Given the description of an element on the screen output the (x, y) to click on. 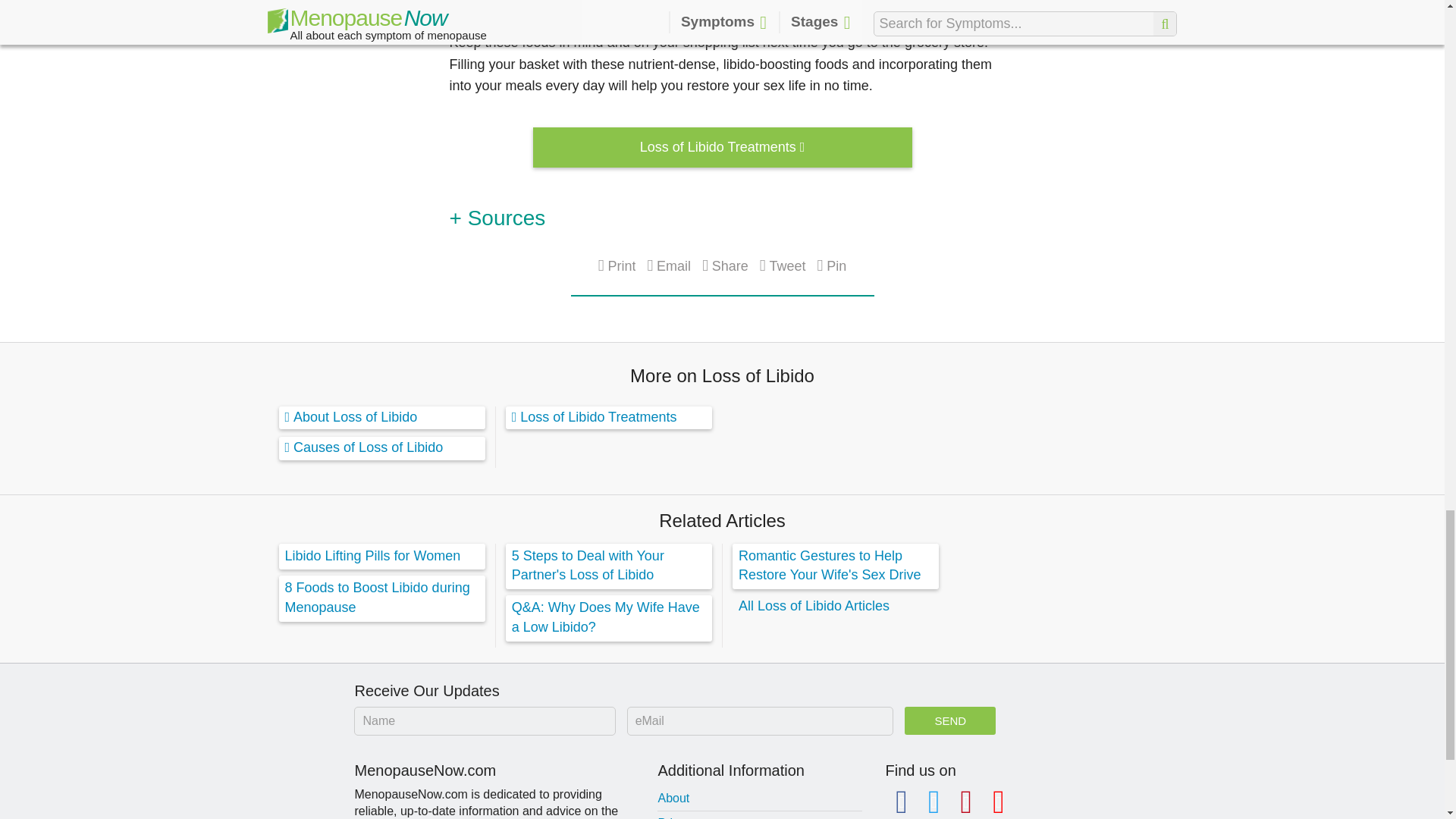
Email this page (668, 265)
Print this page (617, 265)
Share on Twitter (783, 265)
Share on Facebook (724, 265)
Share on Pinterest (831, 265)
